Given the description of an element on the screen output the (x, y) to click on. 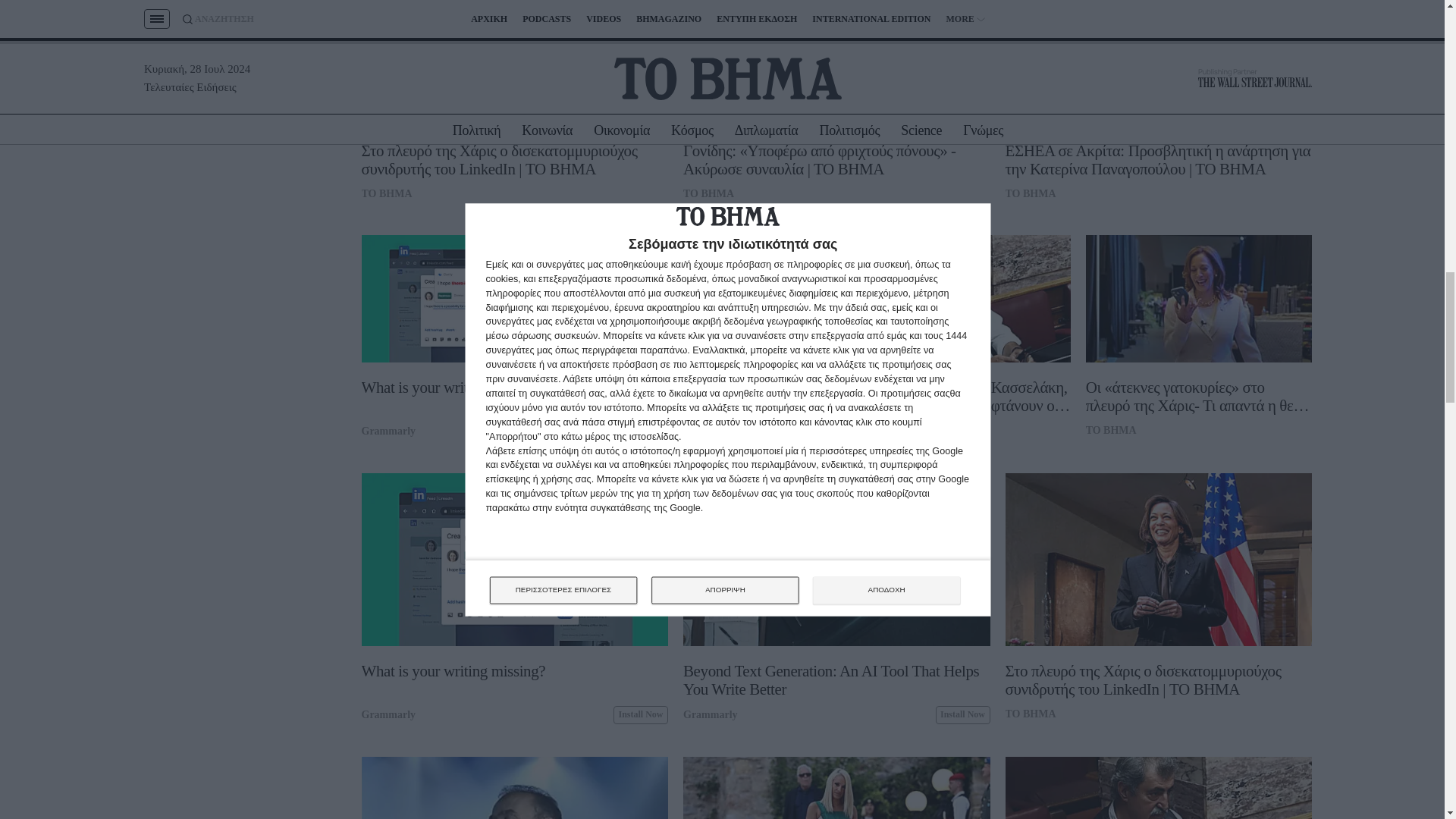
What is your writing missing? (473, 298)
What is your writing missing? (473, 403)
